Given the description of an element on the screen output the (x, y) to click on. 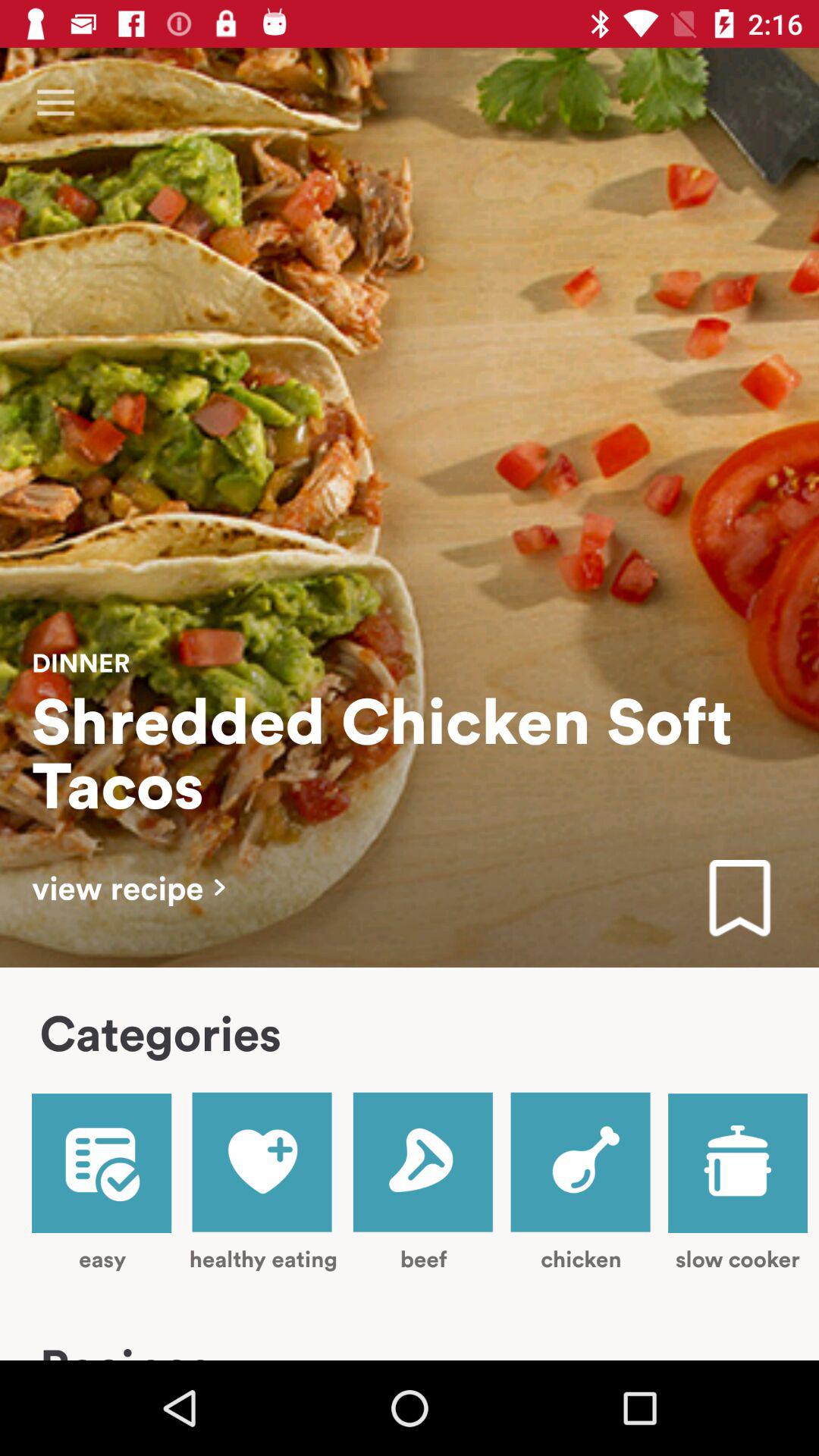
scroll until the slow cooker icon (737, 1182)
